Given the description of an element on the screen output the (x, y) to click on. 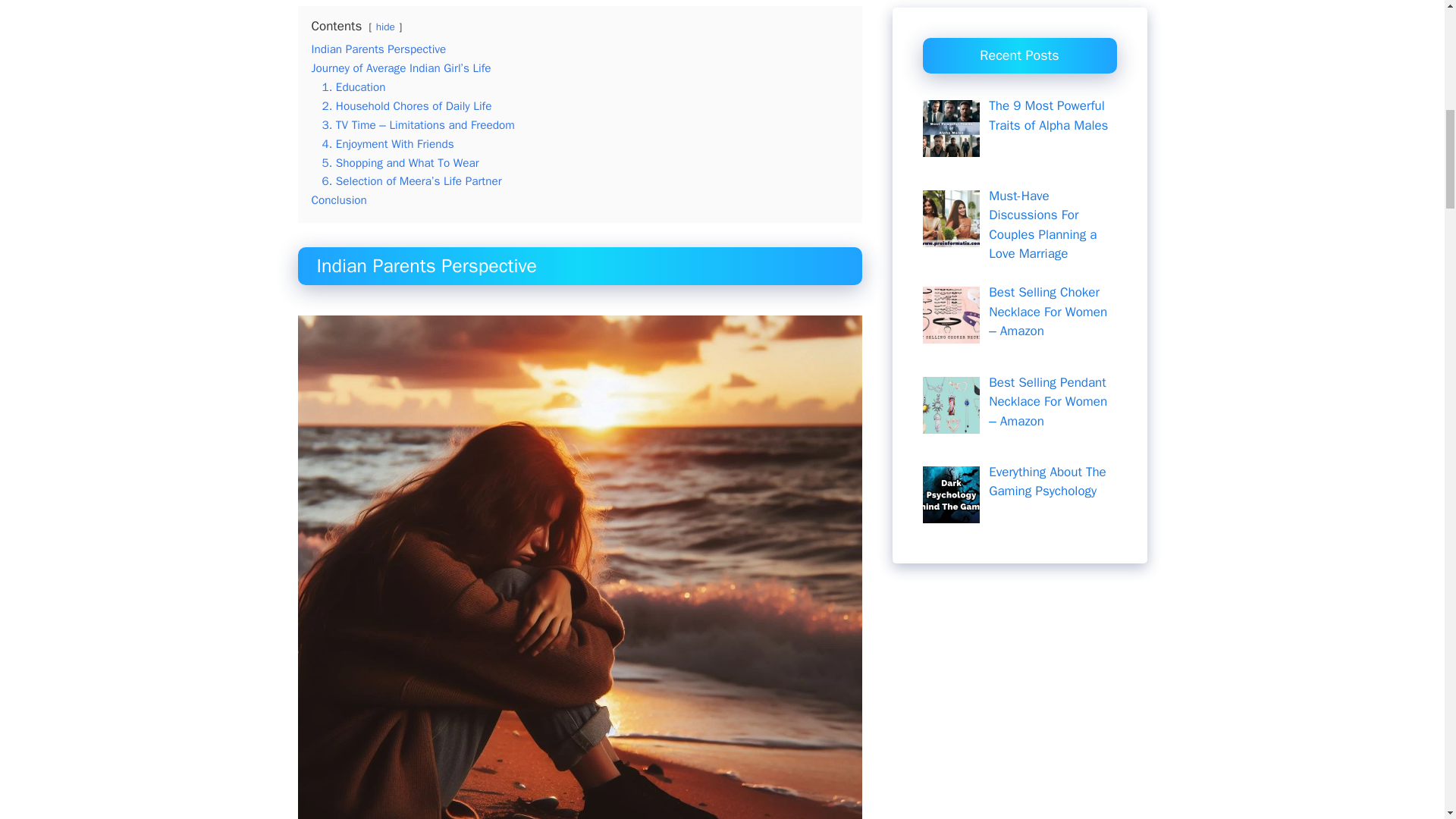
Everything About The Gaming Psychology (1047, 89)
Indian Parents Perspective (378, 48)
2. Household Chores of Daily Life (406, 105)
Conclusion (338, 200)
5. Shopping and What To Wear (400, 162)
hide (384, 26)
1. Education (353, 87)
4. Enjoyment With Friends (386, 143)
